Given the description of an element on the screen output the (x, y) to click on. 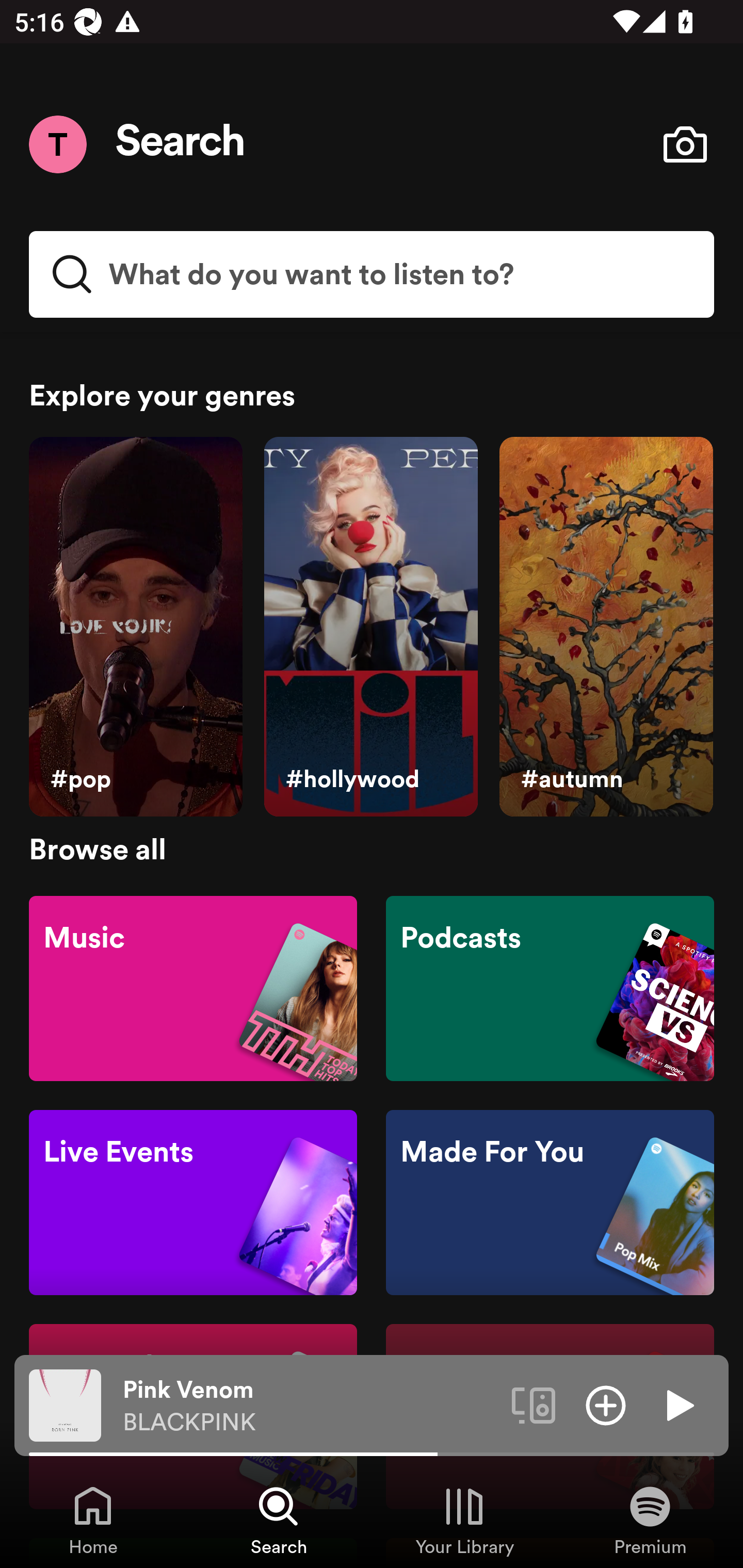
Menu (57, 144)
Open camera (685, 145)
Search (180, 144)
#pop (135, 626)
#hollywood (370, 626)
#autumn (606, 626)
Music (192, 987)
Podcasts (549, 987)
Live Events (192, 1202)
Made For You (549, 1202)
Pink Venom BLACKPINK (309, 1405)
The cover art of the currently playing track (64, 1404)
Connect to a device. Opens the devices menu (533, 1404)
Add item (605, 1404)
Play (677, 1404)
Home, Tab 1 of 4 Home Home (92, 1519)
Search, Tab 2 of 4 Search Search (278, 1519)
Your Library, Tab 3 of 4 Your Library Your Library (464, 1519)
Premium, Tab 4 of 4 Premium Premium (650, 1519)
